Given the description of an element on the screen output the (x, y) to click on. 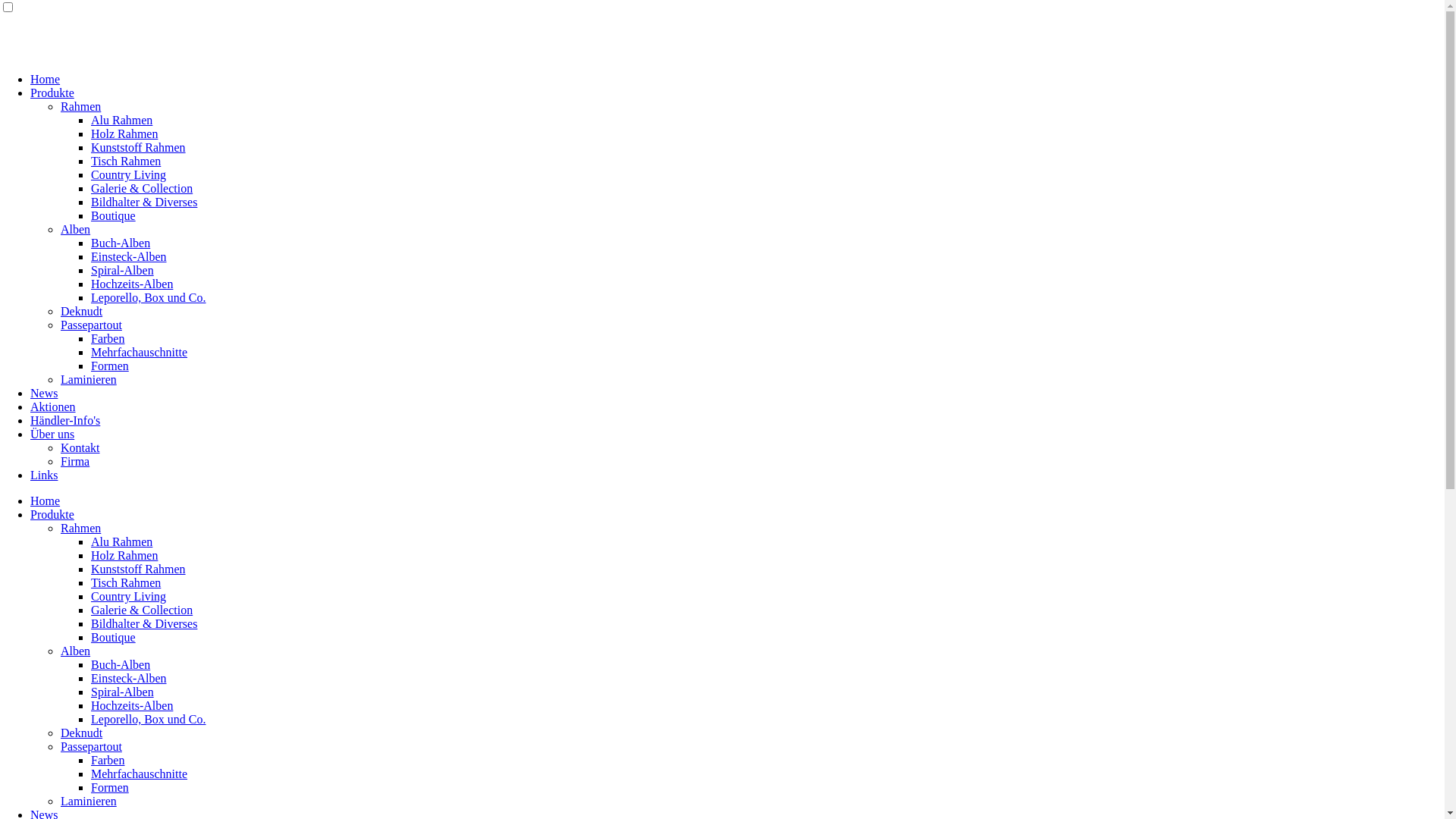
Bildhalter & Diverses Element type: text (144, 623)
Alu Rahmen Element type: text (121, 119)
Links Element type: text (43, 474)
Mehrfachauschnitte Element type: text (139, 773)
Home Element type: text (44, 500)
Galerie & Collection Element type: text (141, 609)
Rahmen Element type: text (80, 527)
Produkte Element type: text (52, 514)
Galerie & Collection Element type: text (141, 188)
Farben Element type: text (107, 759)
Country Living Element type: text (128, 174)
Alben Element type: text (75, 228)
News Element type: text (43, 392)
Country Living Element type: text (128, 595)
Kunststoff Rahmen Element type: text (138, 147)
Deknudt Element type: text (81, 732)
Farben Element type: text (107, 338)
Bildhalter & Diverses Element type: text (144, 201)
Kontakt Element type: text (80, 447)
Hochzeits-Alben Element type: text (131, 705)
Hochzeits-Alben Element type: text (131, 283)
Leporello, Box und Co. Element type: text (148, 297)
Einsteck-Alben Element type: text (128, 256)
Boutique Element type: text (113, 215)
Leporello, Box und Co. Element type: text (148, 718)
Aktionen Element type: text (52, 406)
Tisch Rahmen Element type: text (125, 582)
Buch-Alben Element type: text (120, 242)
Mehrfachauschnitte Element type: text (139, 351)
Boutique Element type: text (113, 636)
Alben Element type: text (75, 650)
Laminieren Element type: text (88, 800)
Formen Element type: text (109, 787)
Buch-Alben Element type: text (120, 664)
Spiral-Alben Element type: text (122, 269)
Rahmen Element type: text (80, 106)
Formen Element type: text (109, 365)
Home Element type: text (44, 78)
Spiral-Alben Element type: text (122, 691)
Kunststoff Rahmen Element type: text (138, 568)
Deknudt Element type: text (81, 310)
Alu Rahmen Element type: text (121, 541)
Passepartout Element type: text (91, 324)
Holz Rahmen Element type: text (124, 133)
Firma Element type: text (74, 461)
Einsteck-Alben Element type: text (128, 677)
Produkte Element type: text (52, 92)
Holz Rahmen Element type: text (124, 555)
Tisch Rahmen Element type: text (125, 160)
Laminieren Element type: text (88, 379)
Passepartout Element type: text (91, 746)
